Given the description of an element on the screen output the (x, y) to click on. 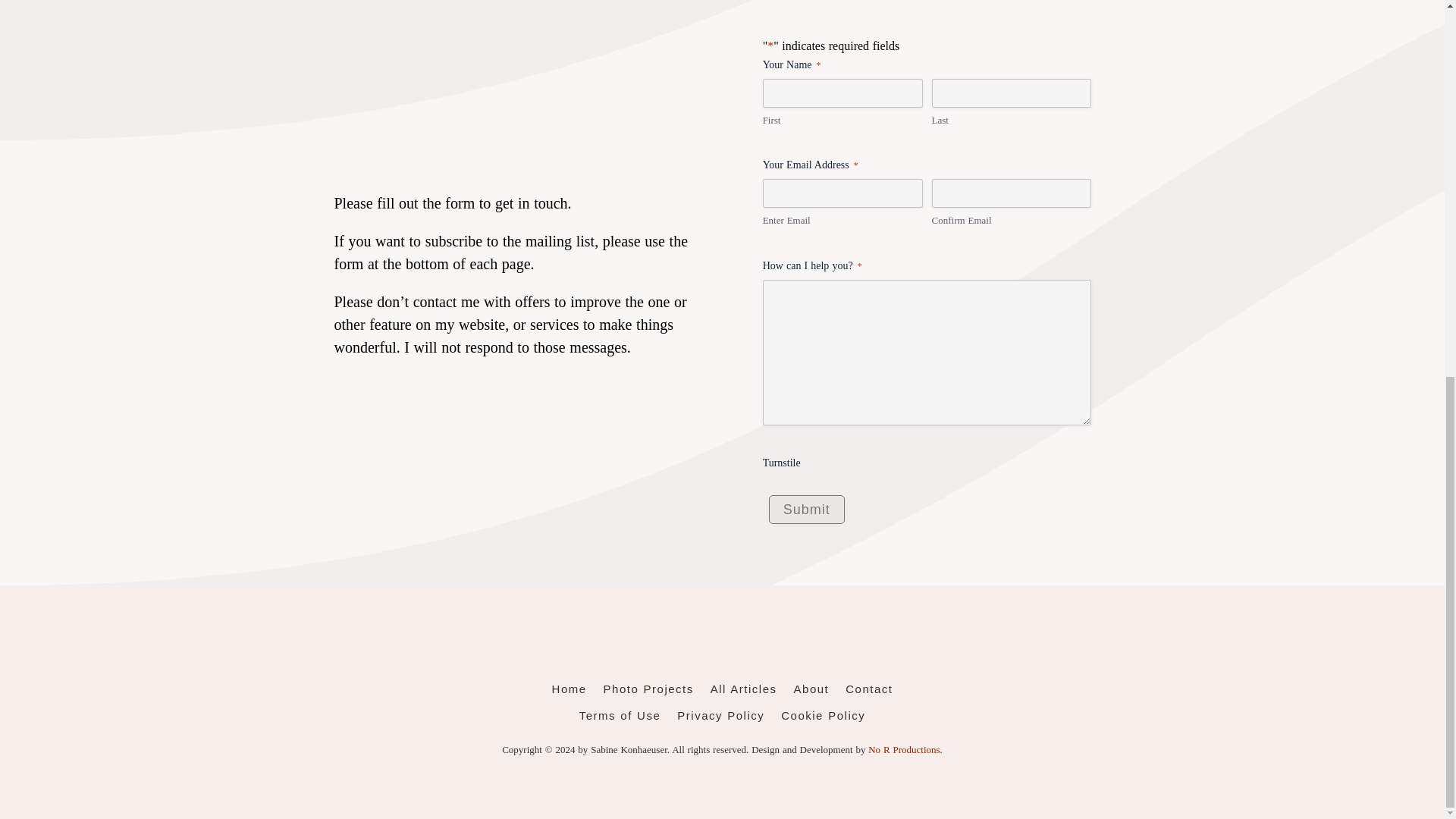
Photo Projects (649, 692)
All Articles (743, 692)
Home (568, 692)
fokuspoint photography (721, 644)
Privacy Policy (720, 718)
About (811, 692)
Submit (806, 509)
Cookie Policy (822, 718)
Submit (806, 509)
No R Productions (903, 749)
